Given the description of an element on the screen output the (x, y) to click on. 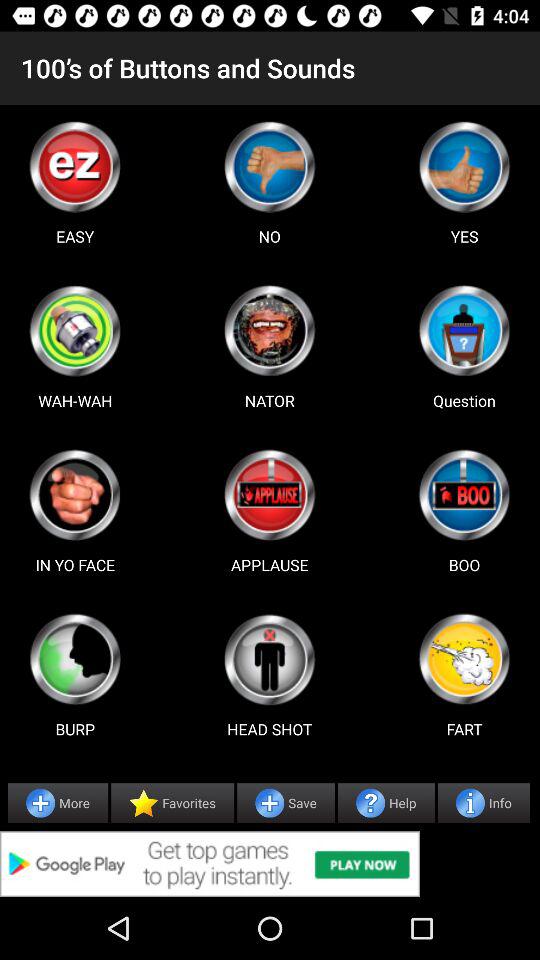
game select option (464, 166)
